Given the description of an element on the screen output the (x, y) to click on. 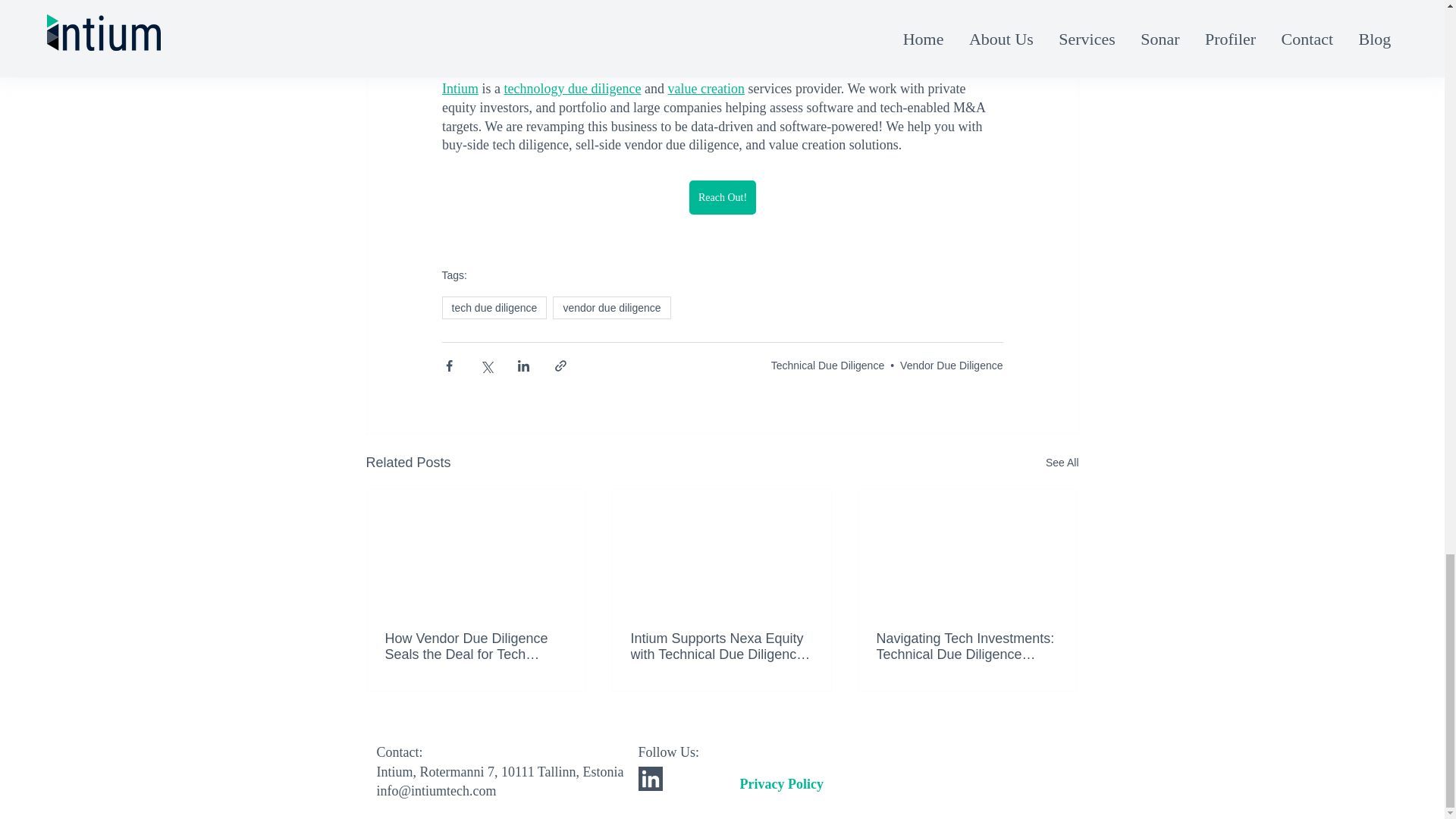
technology due diligence (571, 88)
tech due diligence (494, 307)
How Vendor Due Diligence Seals the Deal for Tech Companies (476, 646)
Contact: (398, 752)
Technical Due Diligence (827, 365)
value creation (705, 88)
See All (1061, 463)
Intium (459, 88)
